Given the description of an element on the screen output the (x, y) to click on. 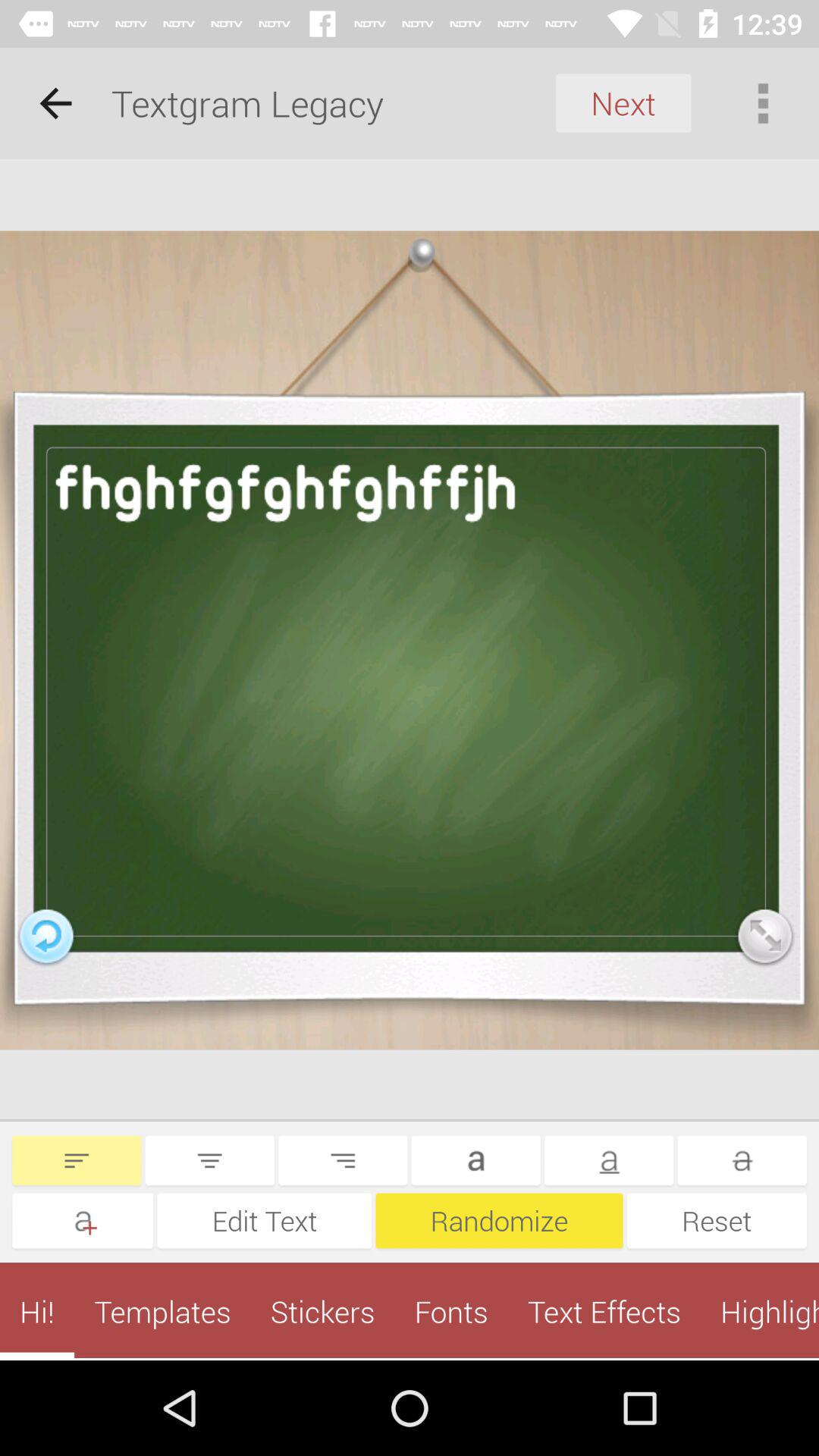
click the icon to the left of templates (37, 1311)
